Given the description of an element on the screen output the (x, y) to click on. 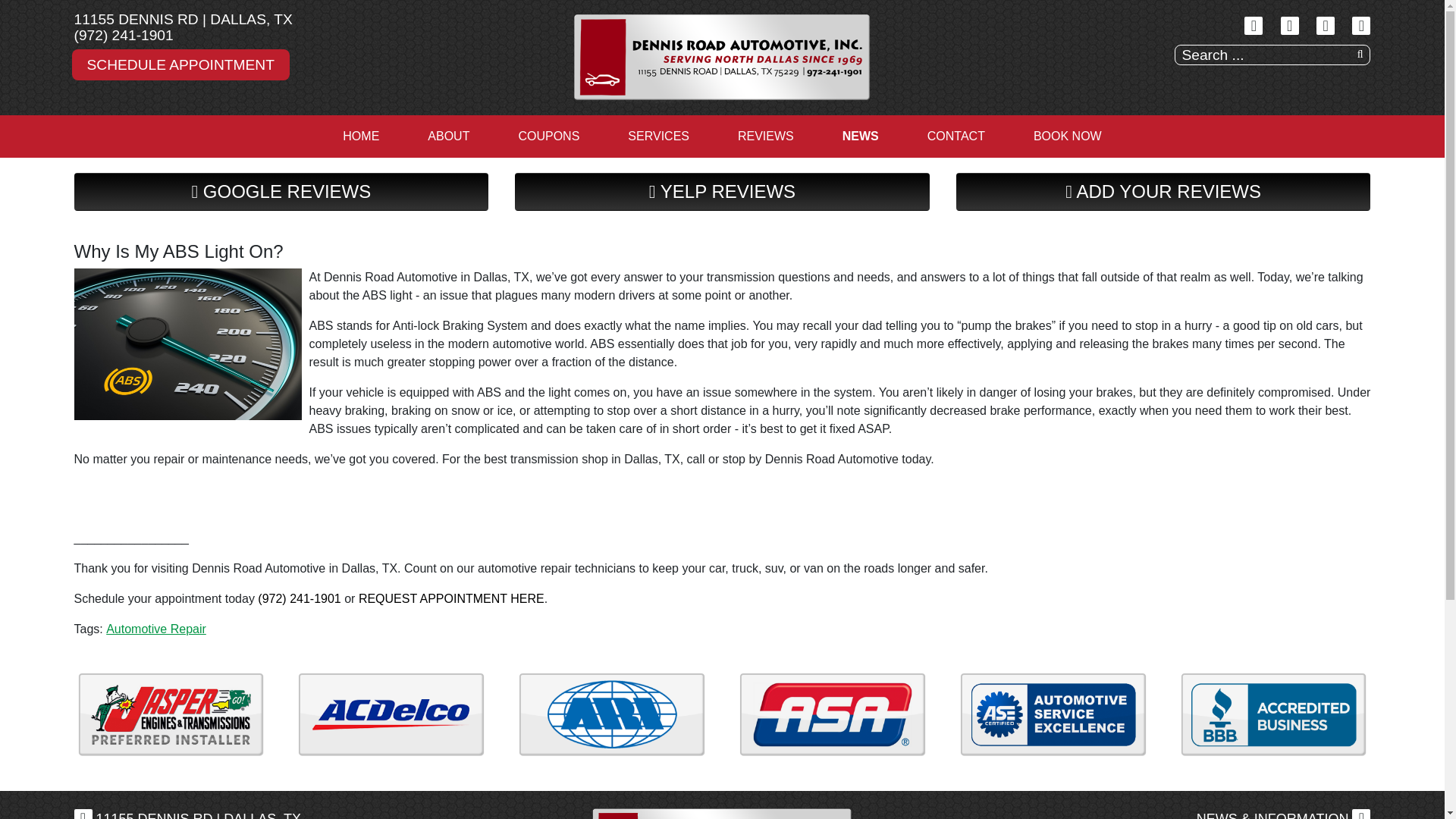
REVIEWS (765, 136)
SCHEDULE APPOINTMENT (179, 64)
NEWS (860, 136)
ABOUT (448, 136)
COUPONS (548, 136)
HOME (360, 136)
SERVICES (658, 136)
CONTACT (955, 136)
